Given the description of an element on the screen output the (x, y) to click on. 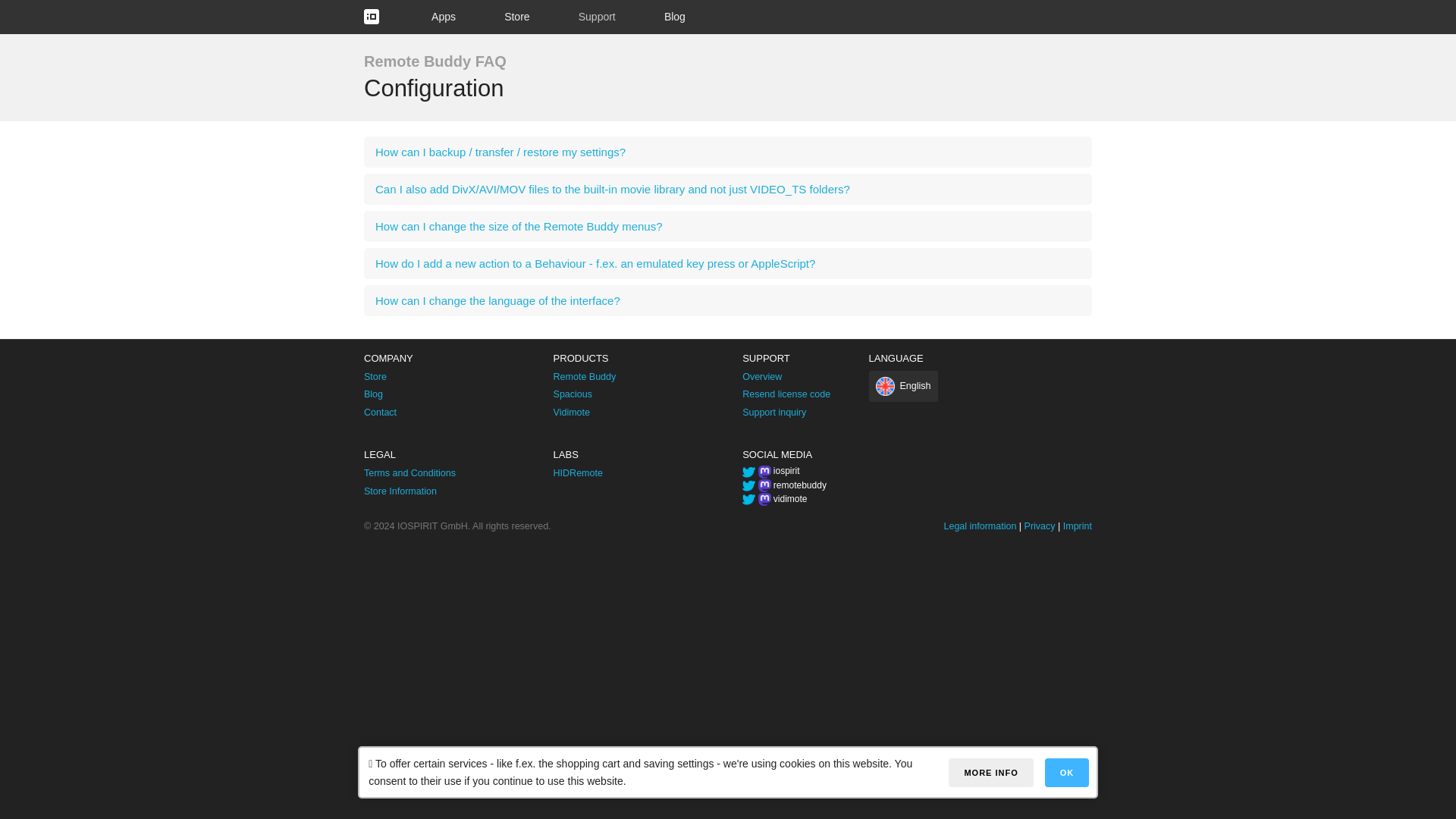
Terms and Conditions (409, 472)
Blog (674, 16)
Store Information (400, 491)
Remote Buddy (584, 376)
Resend license code (785, 394)
Store (375, 376)
Spacious (572, 394)
Vidimote (571, 412)
Blog (373, 394)
